Given the description of an element on the screen output the (x, y) to click on. 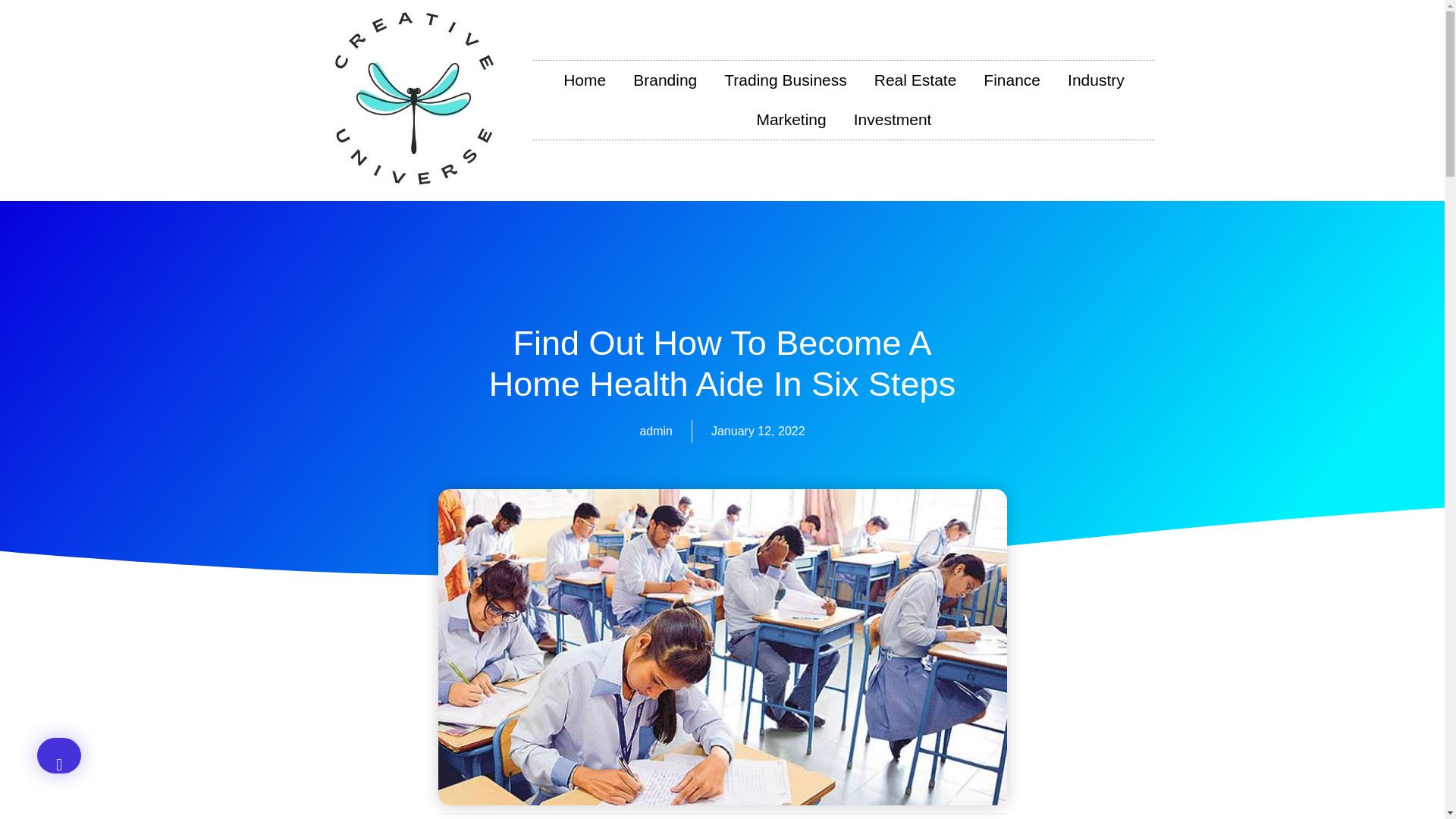
Industry (1096, 79)
Home (585, 79)
Trading Business (785, 79)
Marketing (791, 119)
January 12, 2022 (758, 431)
admin (655, 431)
Investment (892, 119)
Real Estate (915, 79)
Finance (1011, 79)
Branding (665, 79)
